Given the description of an element on the screen output the (x, y) to click on. 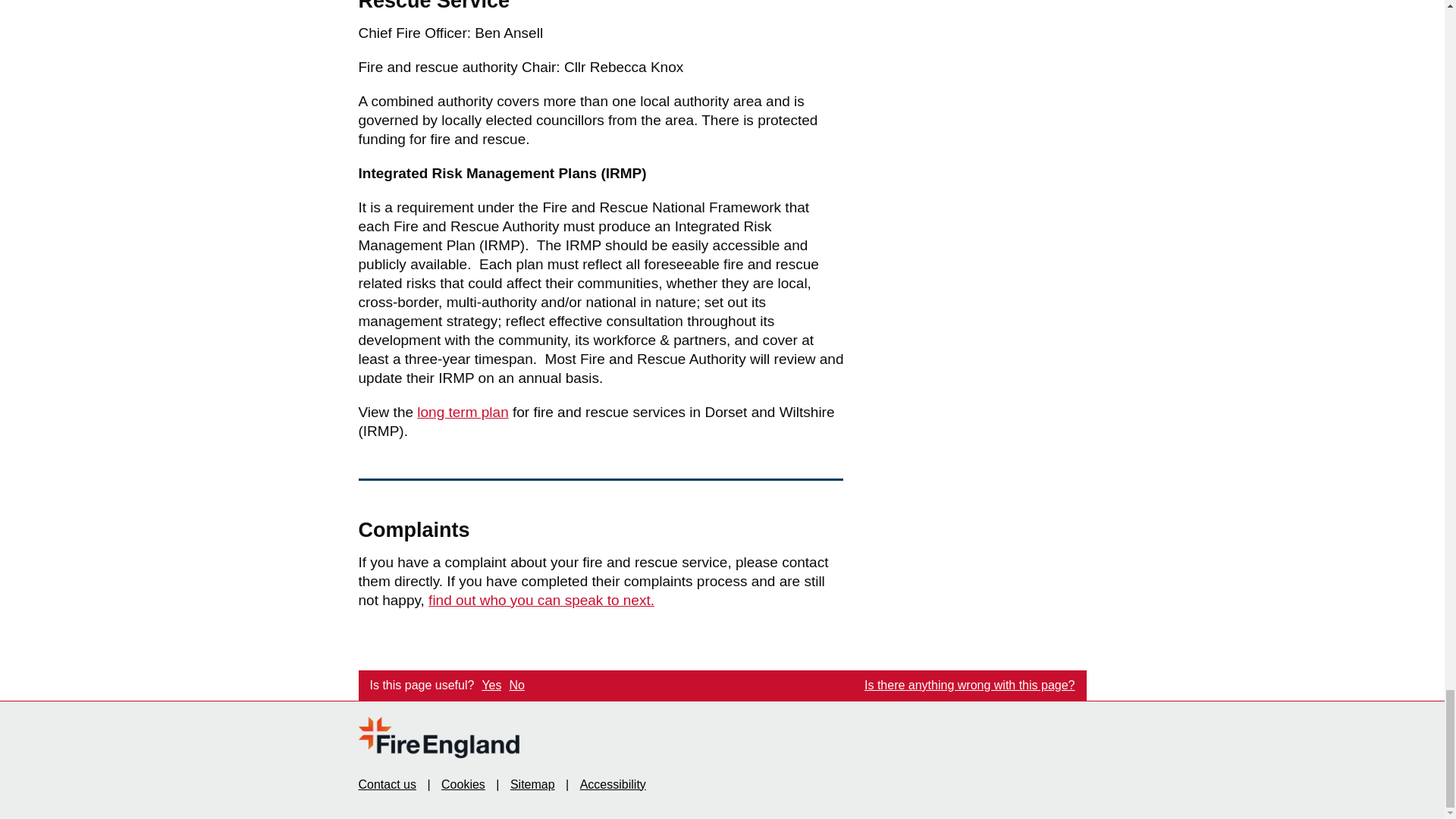
Home (438, 737)
find out who you can speak to next. (540, 600)
Complaints (540, 600)
Is there anything wrong with this page? (969, 685)
Home (516, 685)
long term plan (438, 737)
